Given the description of an element on the screen output the (x, y) to click on. 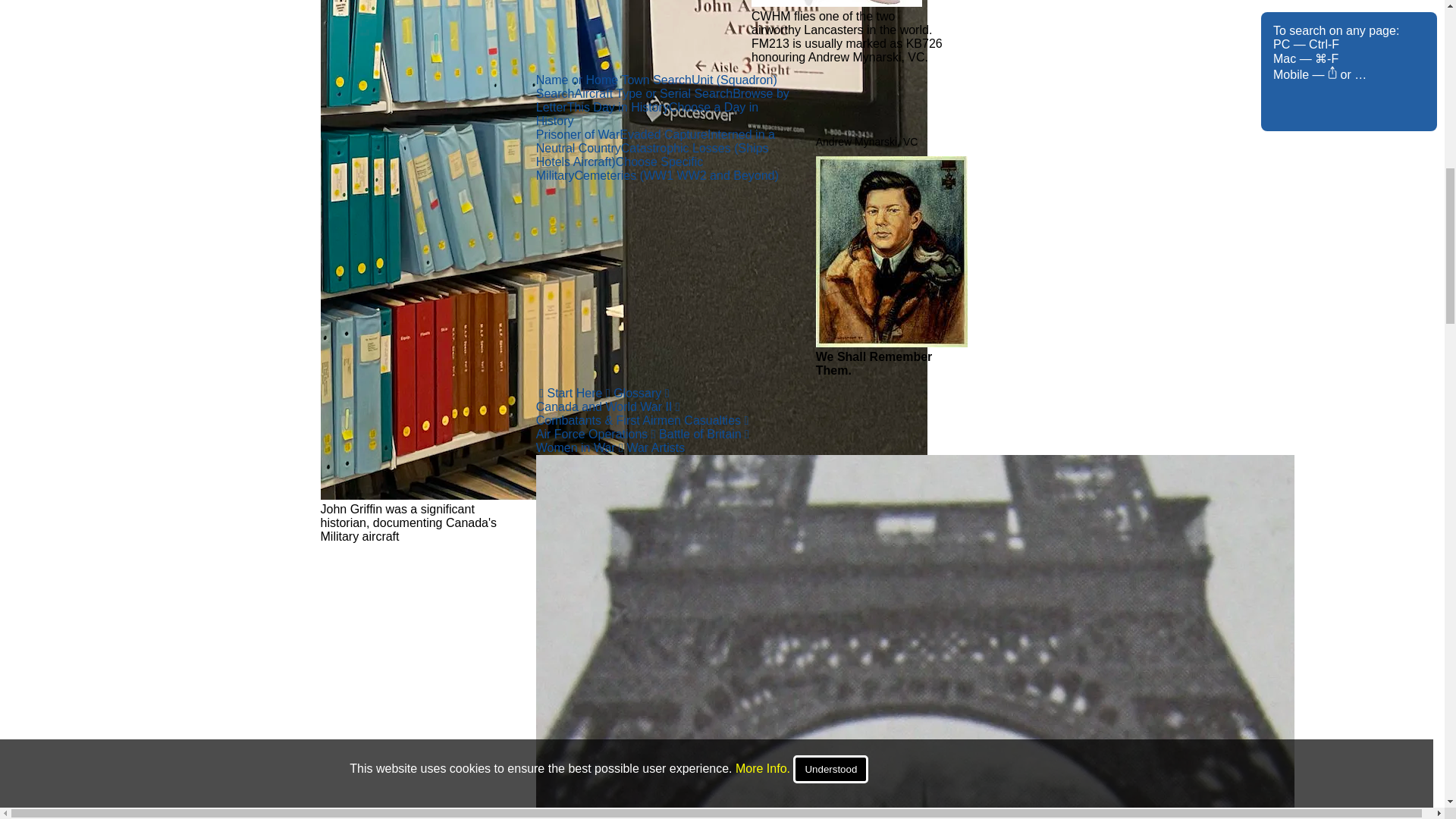
Choose a Day in History (646, 113)
This Day in History (617, 106)
Browse by Letter (662, 99)
Prisoner of War (577, 133)
Name or Home Town Search (613, 79)
Choose Specific Military (619, 168)
Evaded Capture (663, 133)
Interned in a Neutral Country (654, 140)
Aircraft Type or Serial Search (652, 92)
